Given the description of an element on the screen output the (x, y) to click on. 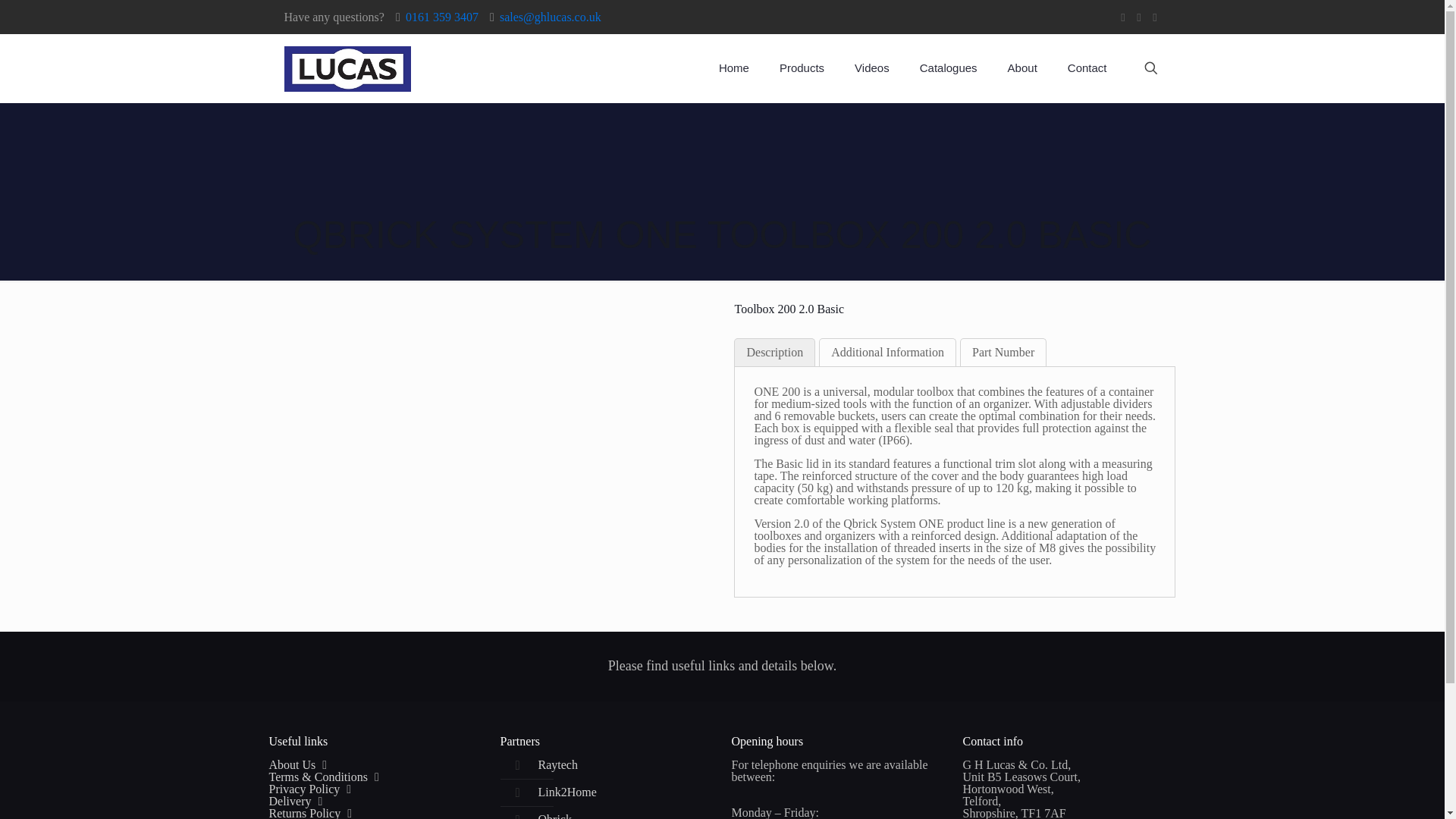
LinkedIn (1155, 17)
Videos (872, 68)
Qbrick (555, 816)
Raytech (558, 764)
Facebook (1123, 17)
Products (802, 68)
Catalogues (948, 68)
Contact (1087, 68)
Delivery (289, 800)
Returns Policy (303, 812)
